Given the description of an element on the screen output the (x, y) to click on. 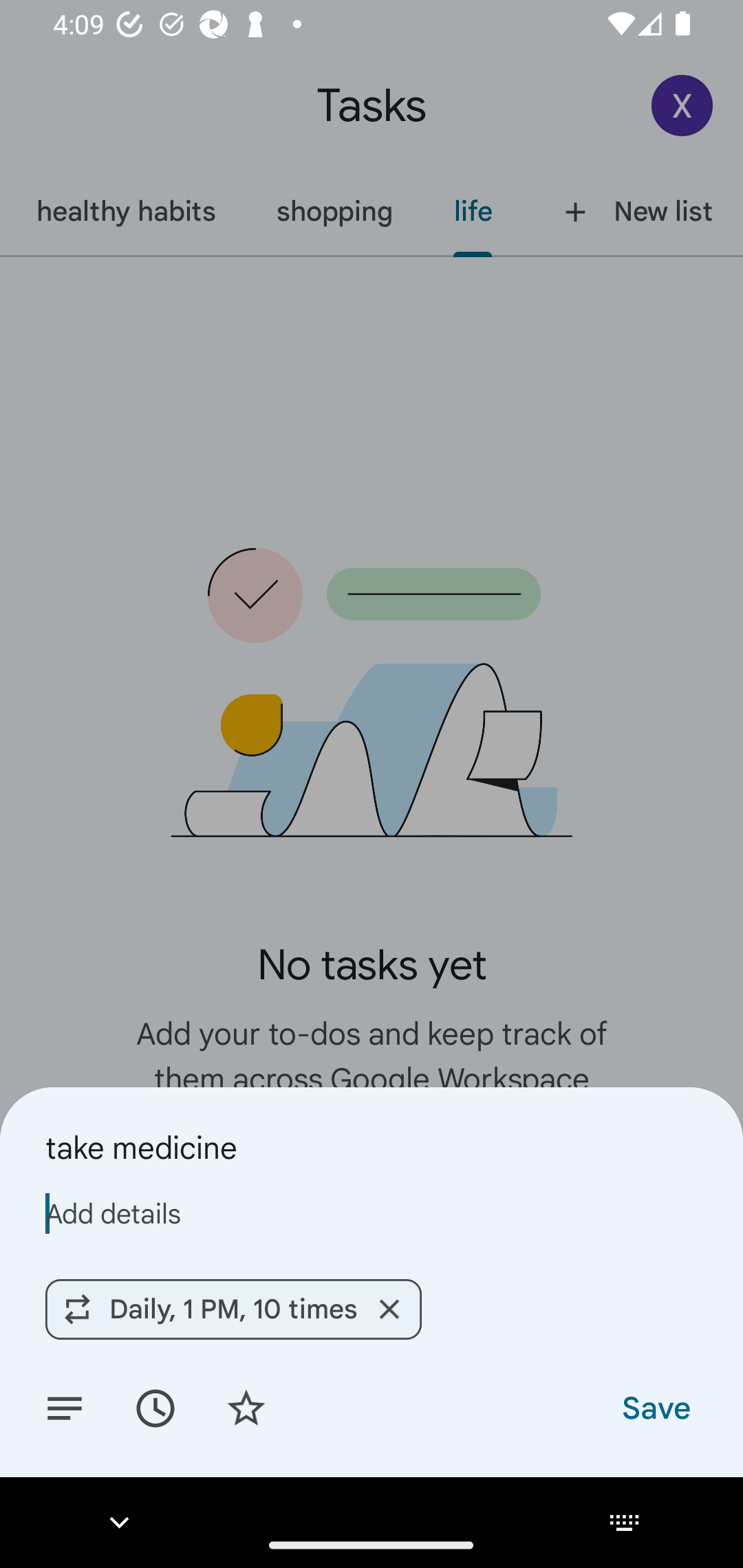
take medicine (371, 1147)
Add details (371, 1213)
Daily, 1 PM, 10 times Remove Daily, 1 PM, 10 times (233, 1308)
Save (655, 1407)
Add details (64, 1407)
Set date/time (154, 1407)
Add star (245, 1407)
